Given the description of an element on the screen output the (x, y) to click on. 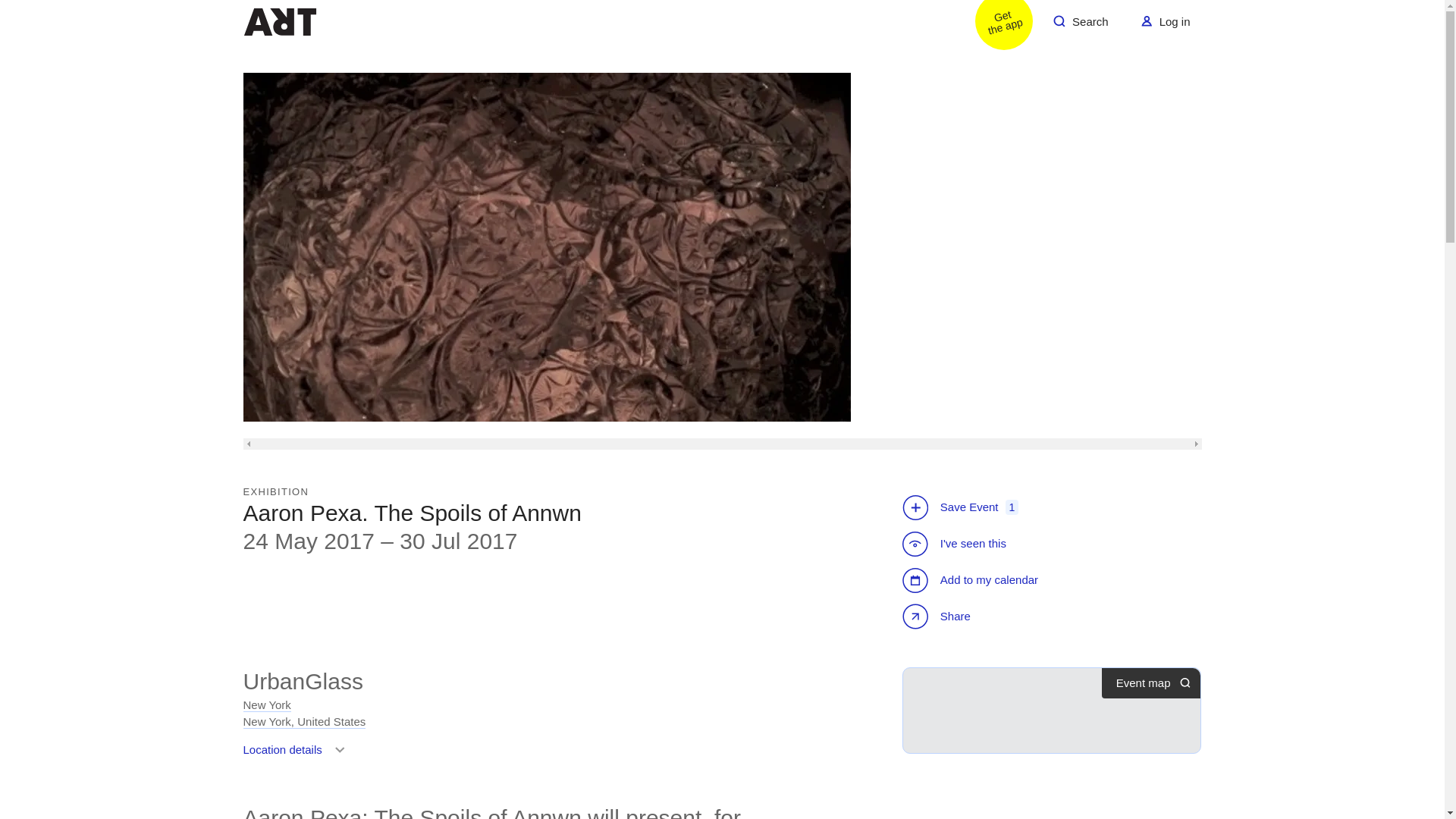
Add to my calendar (972, 579)
Share (938, 617)
Welcome to ArtRabbit (297, 755)
UrbanGlass (1165, 20)
